Given the description of an element on the screen output the (x, y) to click on. 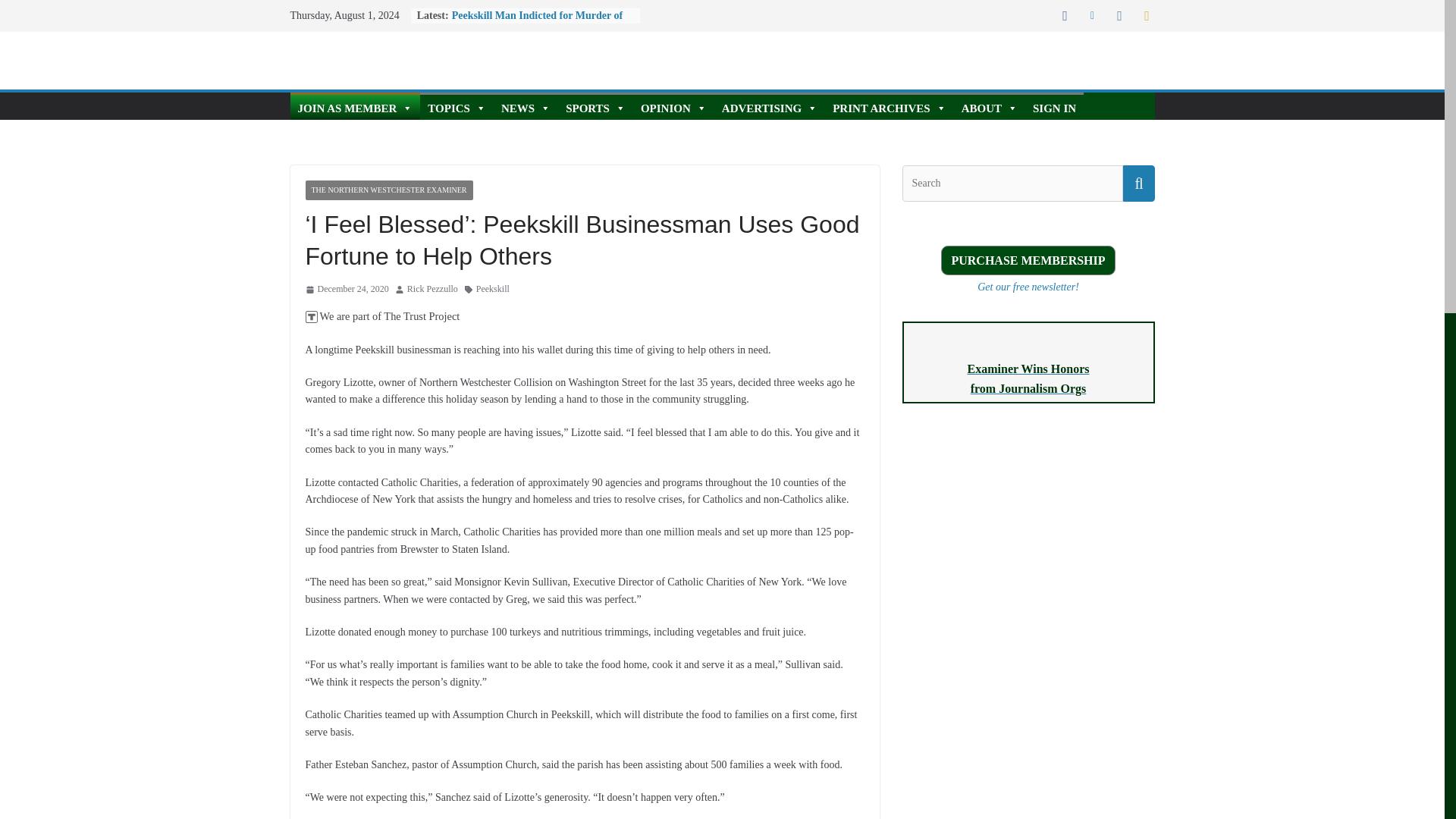
Peekskill Man Indicted for Murder of County Social Worker (537, 22)
Peekskill Man Indicted for Murder of County Social Worker (537, 22)
NEWS (525, 105)
Rick Pezzullo (432, 289)
6:30 am (346, 289)
TOPICS (456, 105)
JOIN AS MEMBER (354, 105)
